Given the description of an element on the screen output the (x, y) to click on. 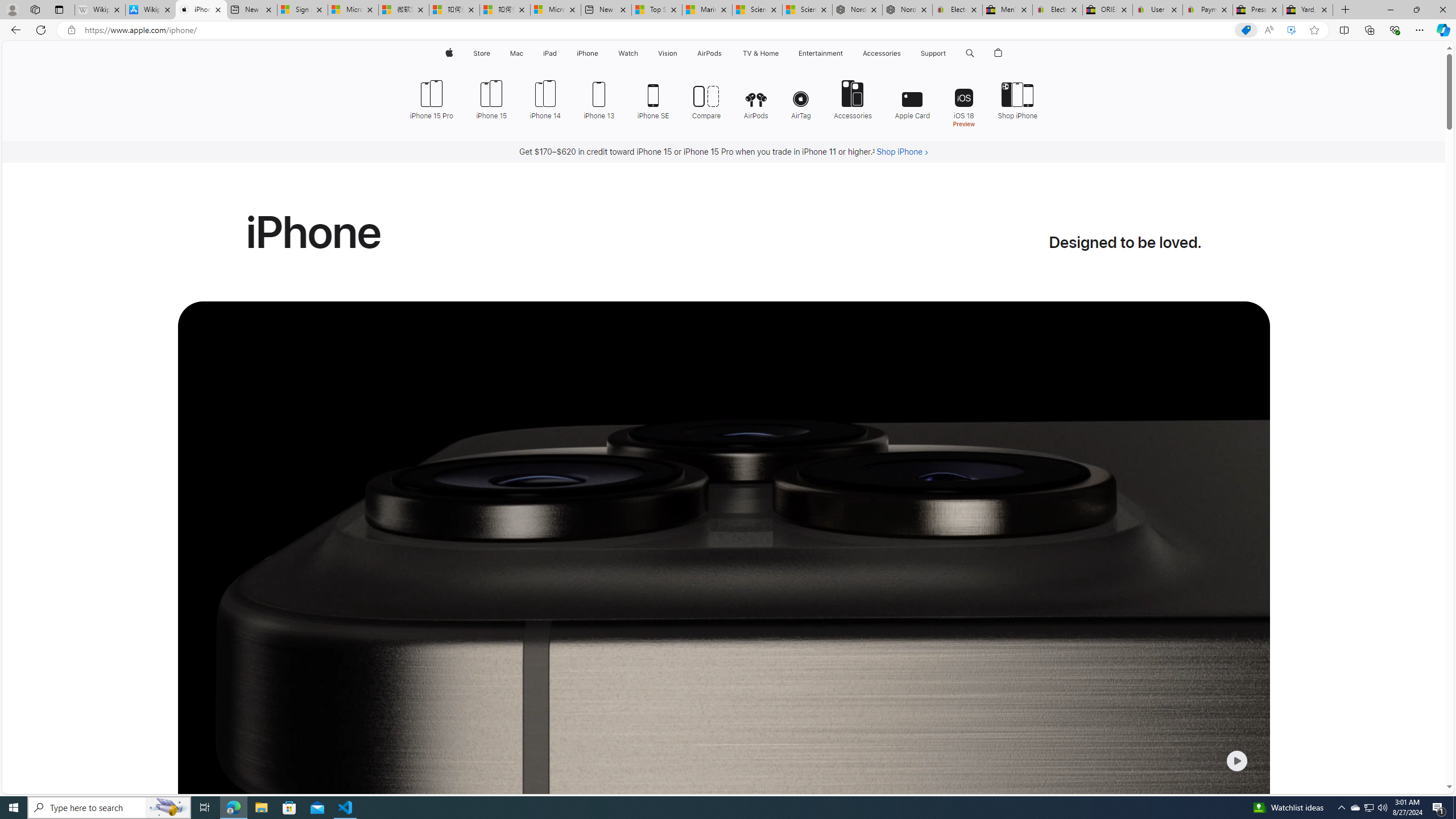
AutomationID: globalnav-bag (998, 53)
AirPods (756, 98)
AirPods (756, 98)
